Given the description of an element on the screen output the (x, y) to click on. 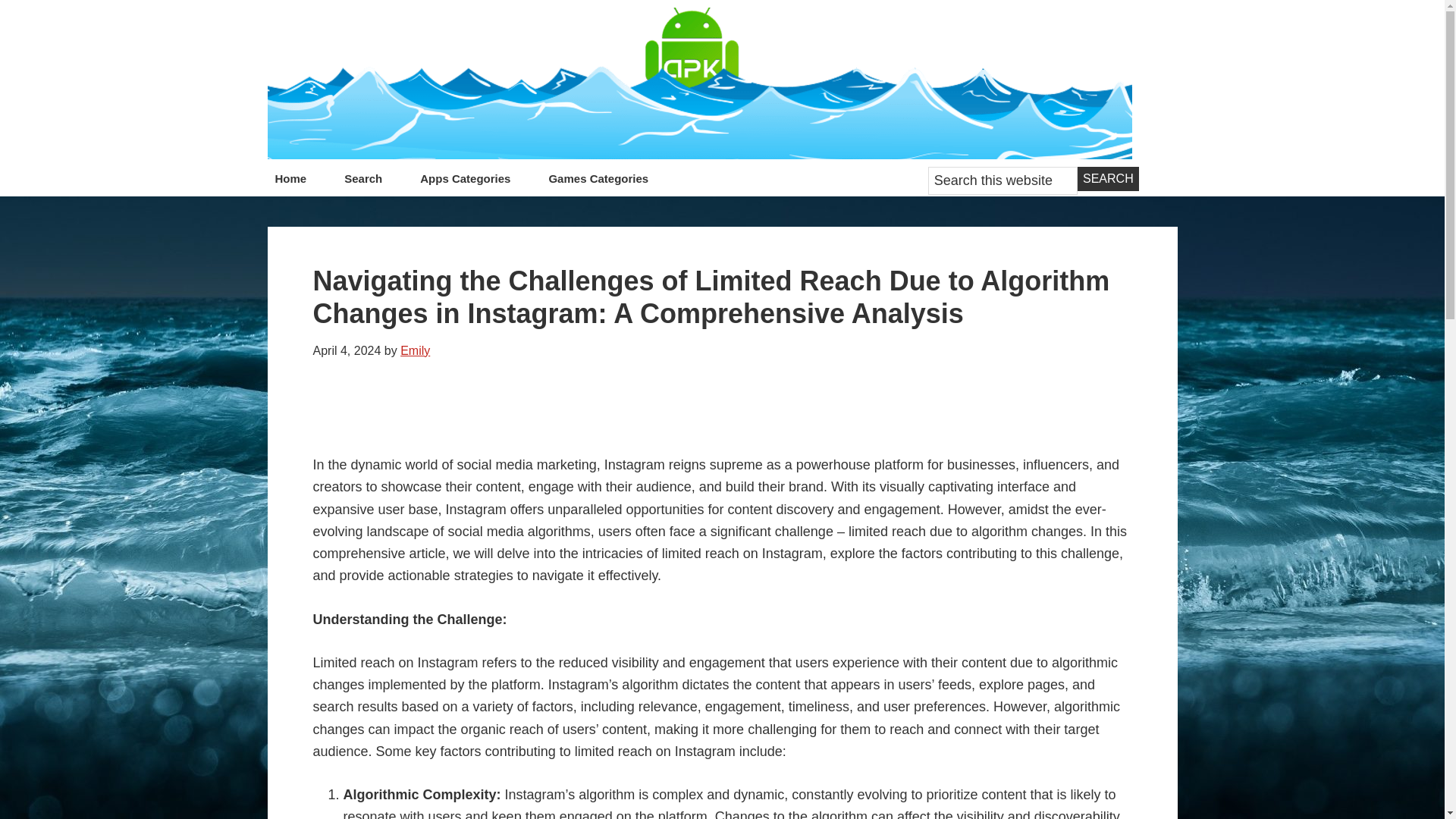
Homepage (698, 82)
OceanofAPK (698, 82)
Apps Categories (465, 181)
Search (363, 181)
Games Categories (598, 181)
Emily (414, 350)
Home (290, 181)
Search (1107, 178)
Search (1107, 178)
Search (1107, 178)
